Given the description of an element on the screen output the (x, y) to click on. 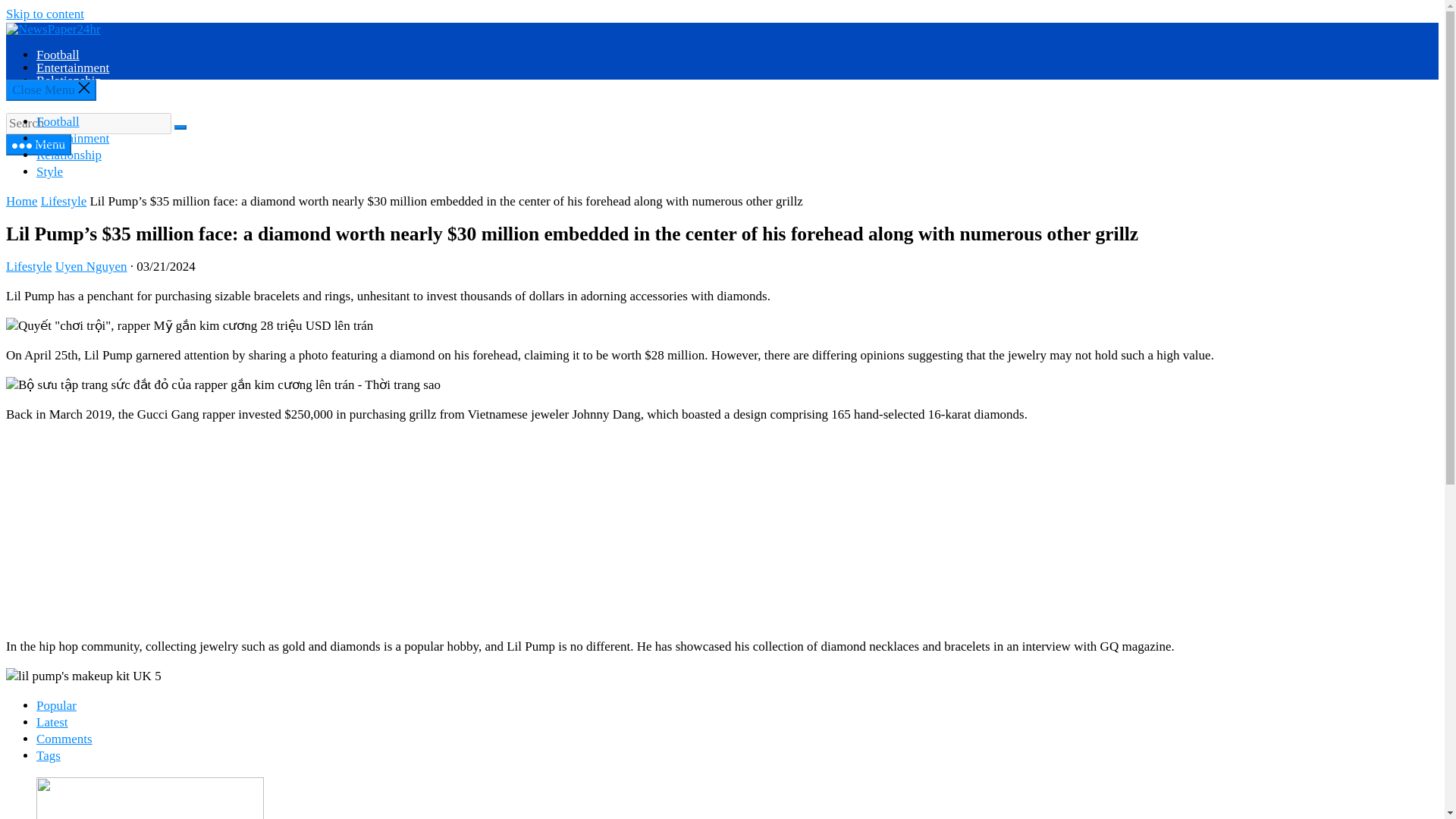
Lifestyle (62, 201)
Style (49, 171)
Popular (56, 705)
Comments (64, 739)
Latest (52, 721)
Relationship (68, 80)
Close Menu (50, 89)
Relationship (68, 155)
Menu (38, 144)
Skip to content (44, 13)
Lifestyle (27, 266)
Latest (52, 721)
Entertainment (72, 67)
Home (21, 201)
Comments (64, 739)
